Given the description of an element on the screen output the (x, y) to click on. 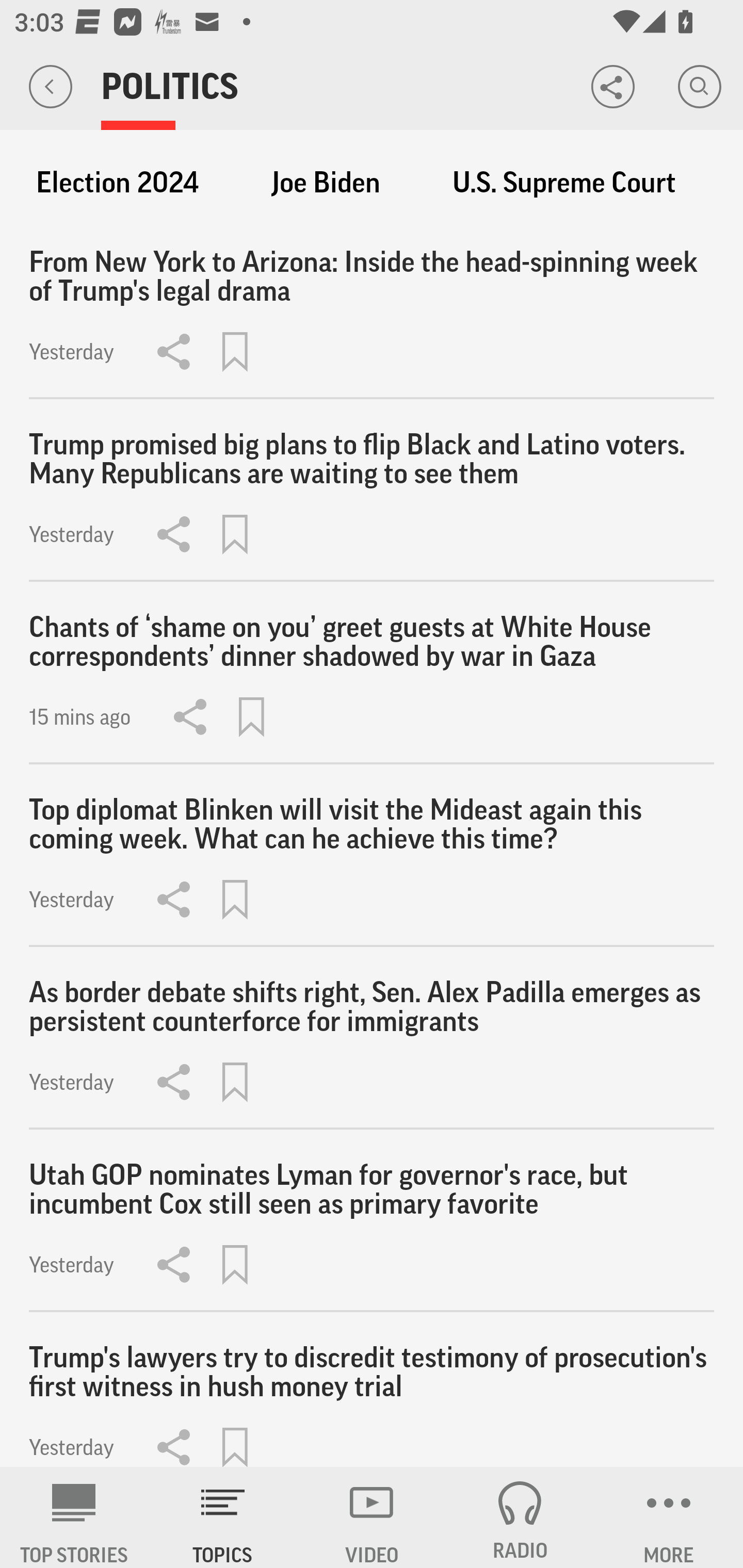
Election 2024 (116, 182)
Joe Biden (325, 182)
U.S. Supreme Court (564, 182)
AP News TOP STORIES (74, 1517)
TOPICS (222, 1517)
VIDEO (371, 1517)
RADIO (519, 1517)
MORE (668, 1517)
